Given the description of an element on the screen output the (x, y) to click on. 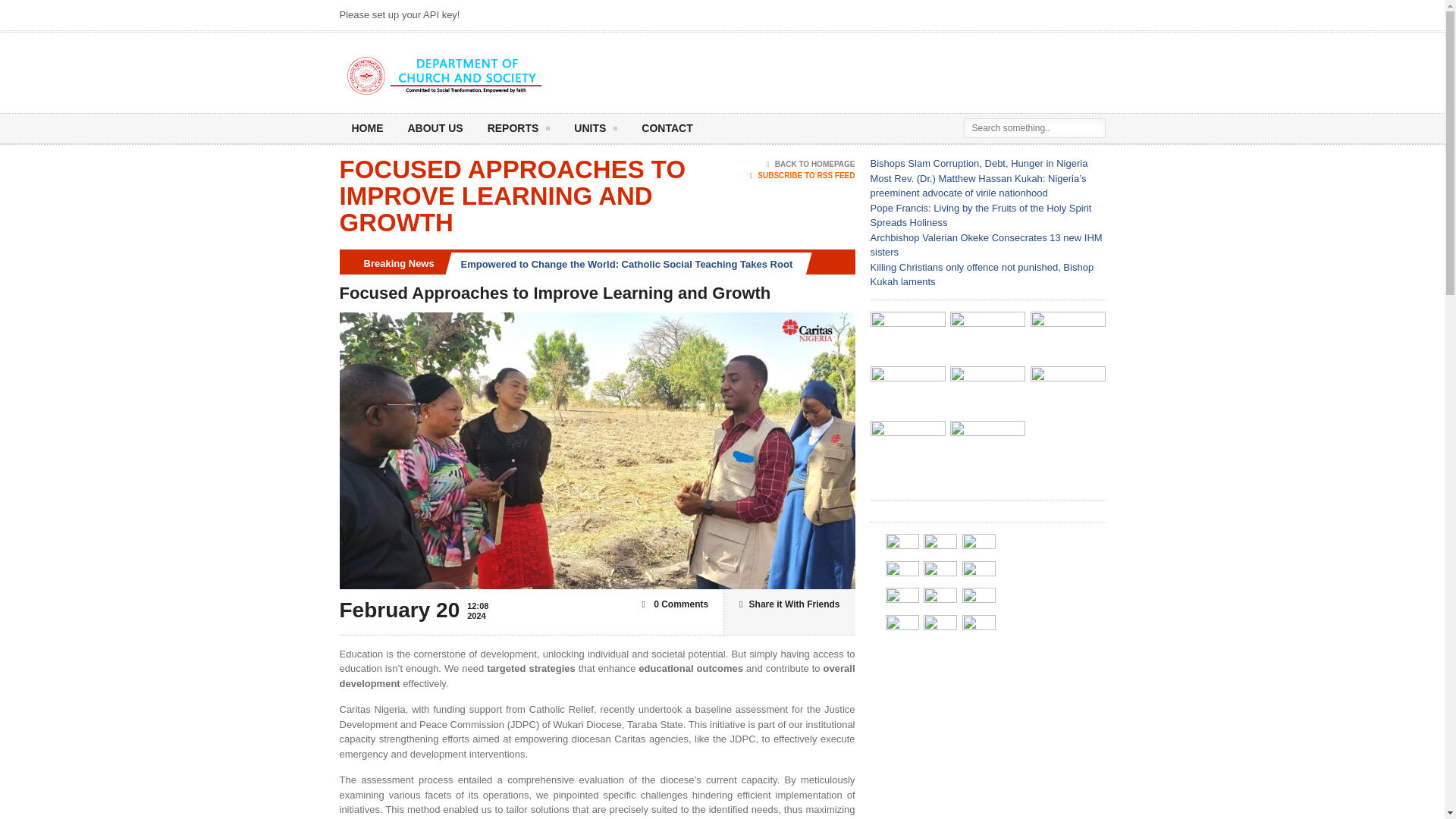
SUBSCRIBE TO RSS FEED (802, 175)
REPORTS  (519, 128)
HOME (367, 128)
ABOUT US (436, 128)
Share it With Friends (789, 604)
